Given the description of an element on the screen output the (x, y) to click on. 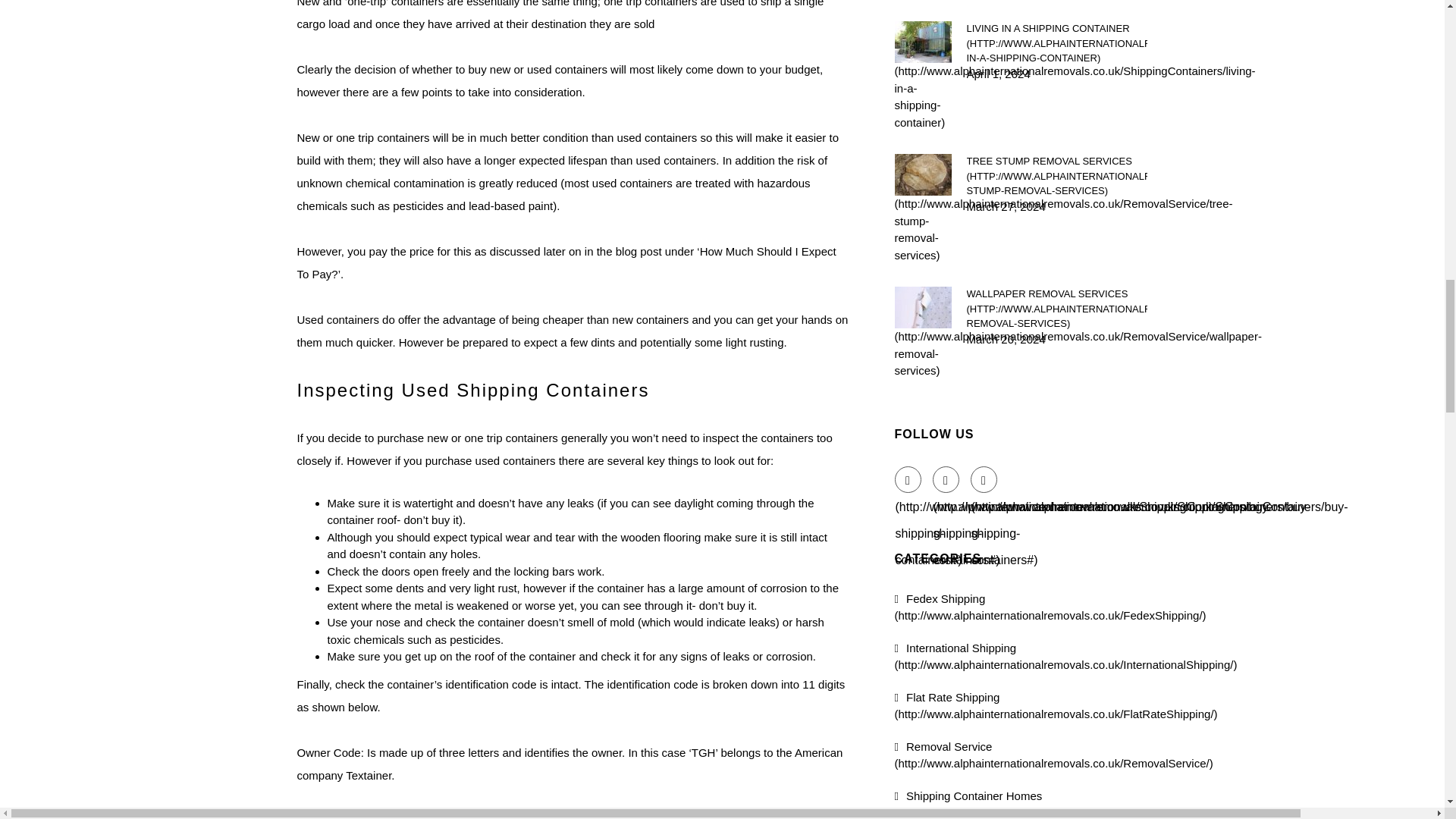
View all posts filed under Flat Rate Shipping (1056, 705)
Twitter (946, 479)
LIVING IN A SHIPPING CONTAINER (1056, 43)
Facebook (908, 479)
View all posts filed under Shipping Container Homes (1077, 803)
View all posts filed under Fedex Shipping (1051, 606)
View all posts filed under International Shipping (1066, 656)
View all posts filed under Removal Service (1053, 755)
Google Plus (984, 479)
